Given the description of an element on the screen output the (x, y) to click on. 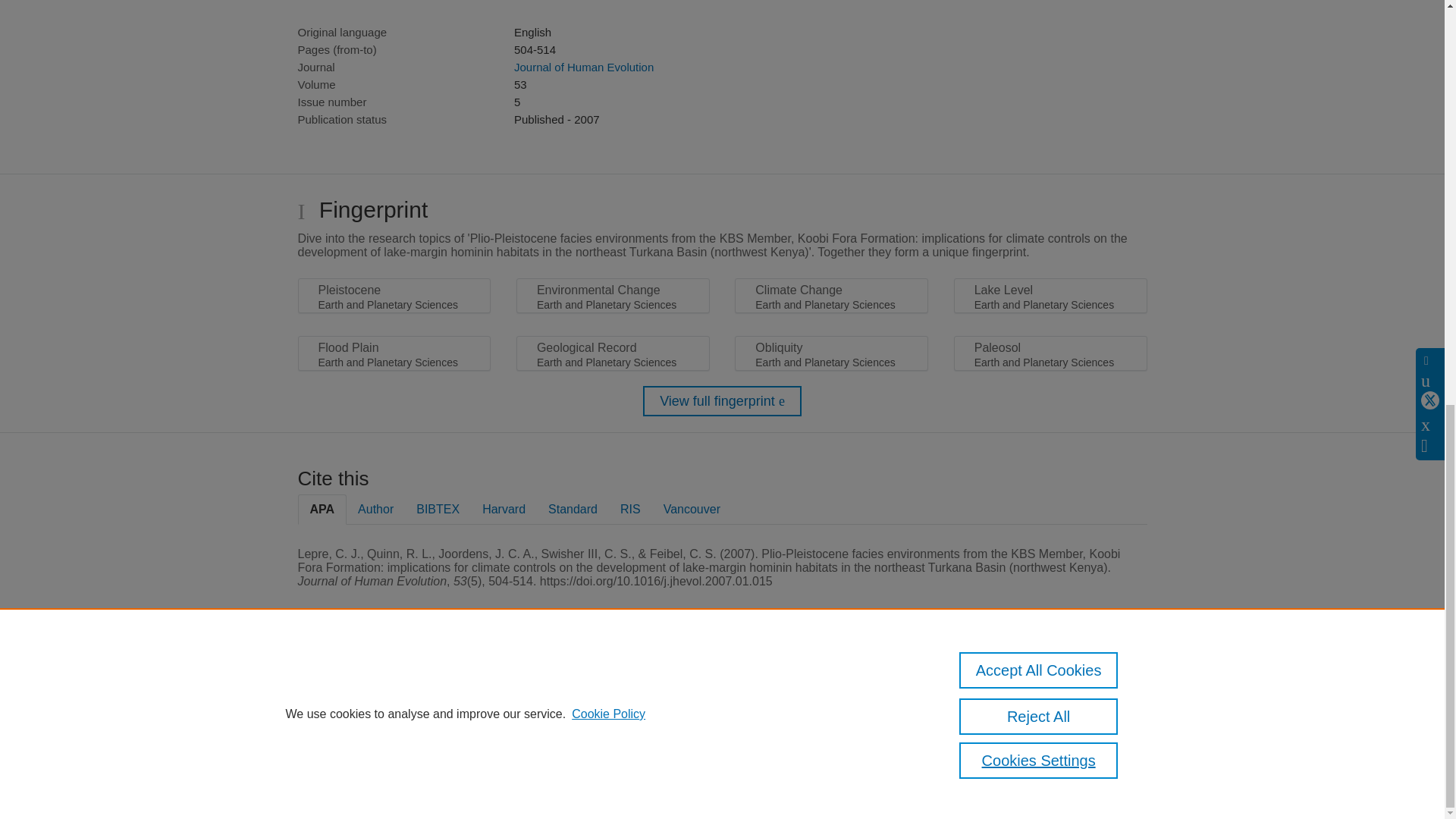
Journal of Human Evolution (583, 66)
Scopus (394, 686)
Pure (362, 686)
View full fingerprint (722, 400)
